Given the description of an element on the screen output the (x, y) to click on. 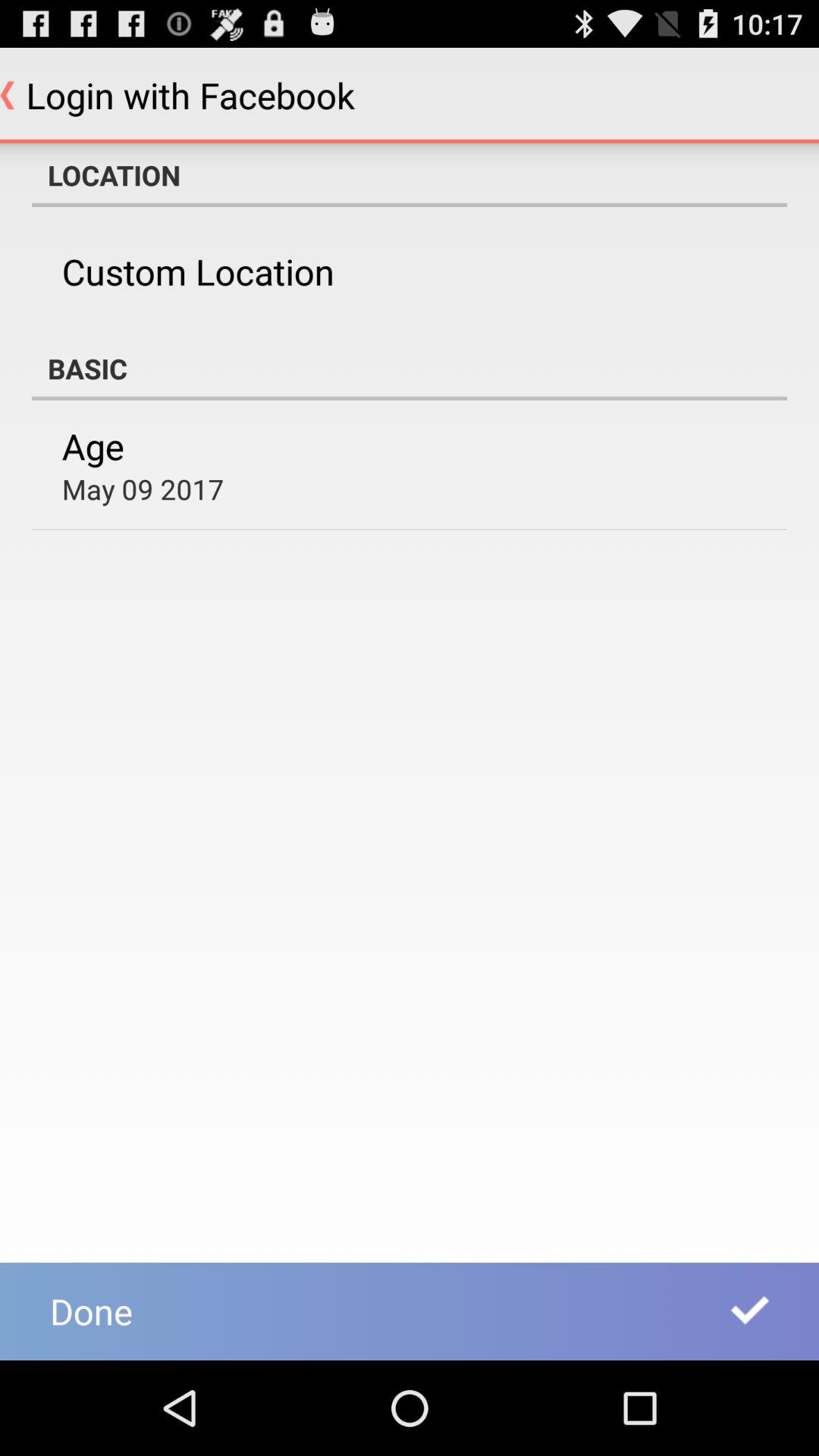
press the icon above the done icon (142, 488)
